Given the description of an element on the screen output the (x, y) to click on. 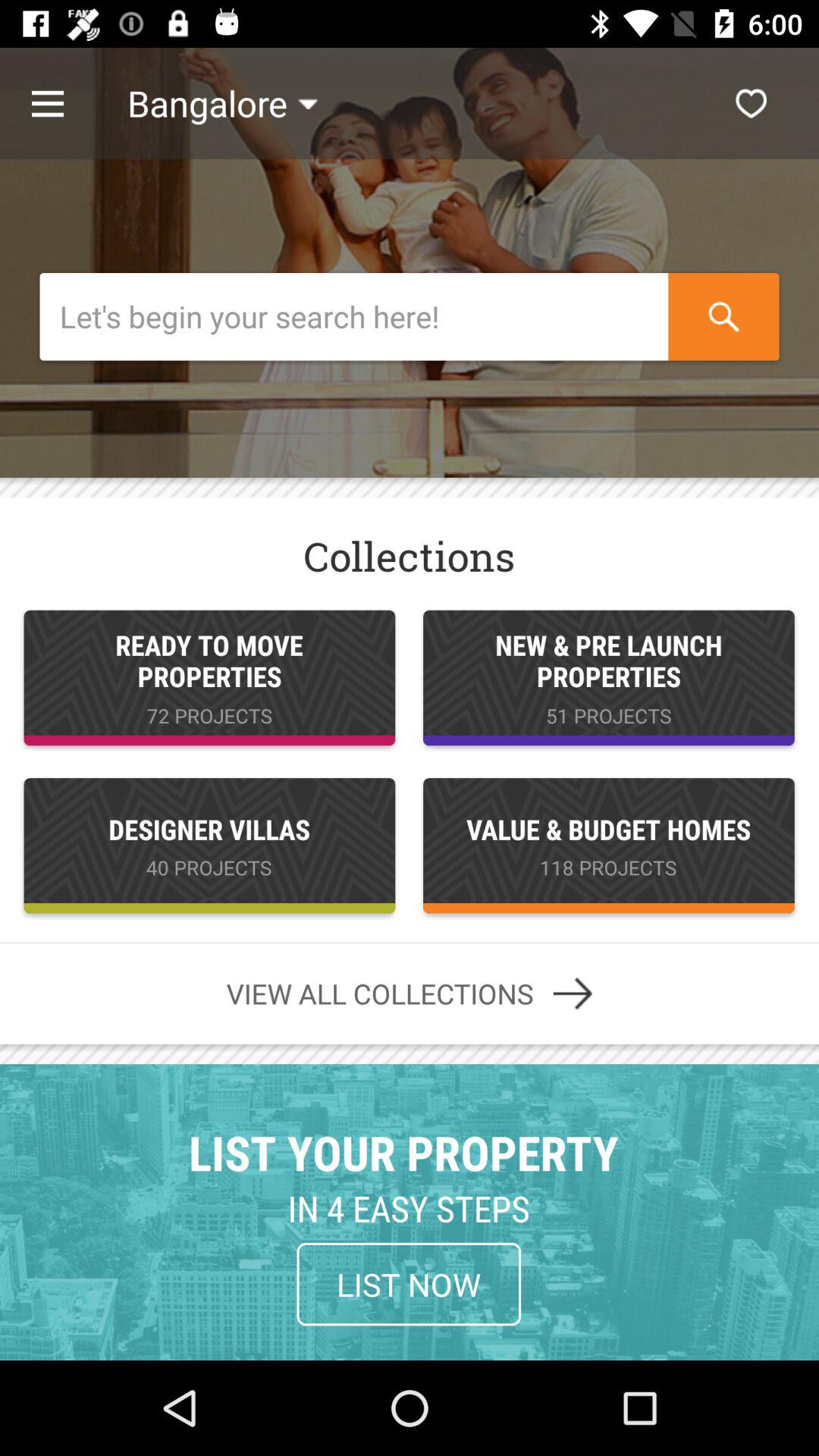
select the icon next to the bangalore item (751, 103)
